Given the description of an element on the screen output the (x, y) to click on. 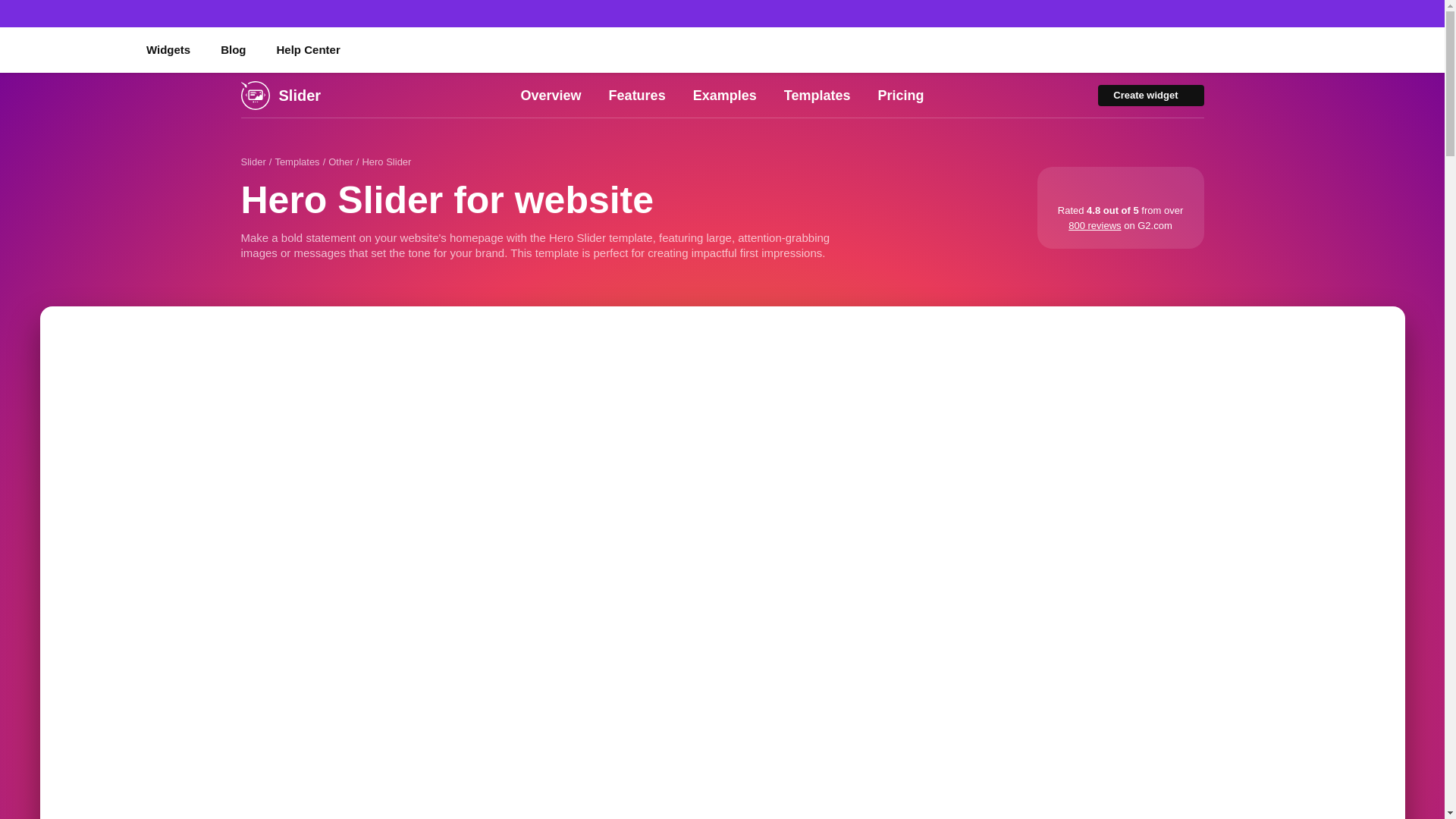
Widgets (168, 49)
Full Screen (1381, 329)
Elfsight - Premium Plugins For Websites (66, 49)
